Given the description of an element on the screen output the (x, y) to click on. 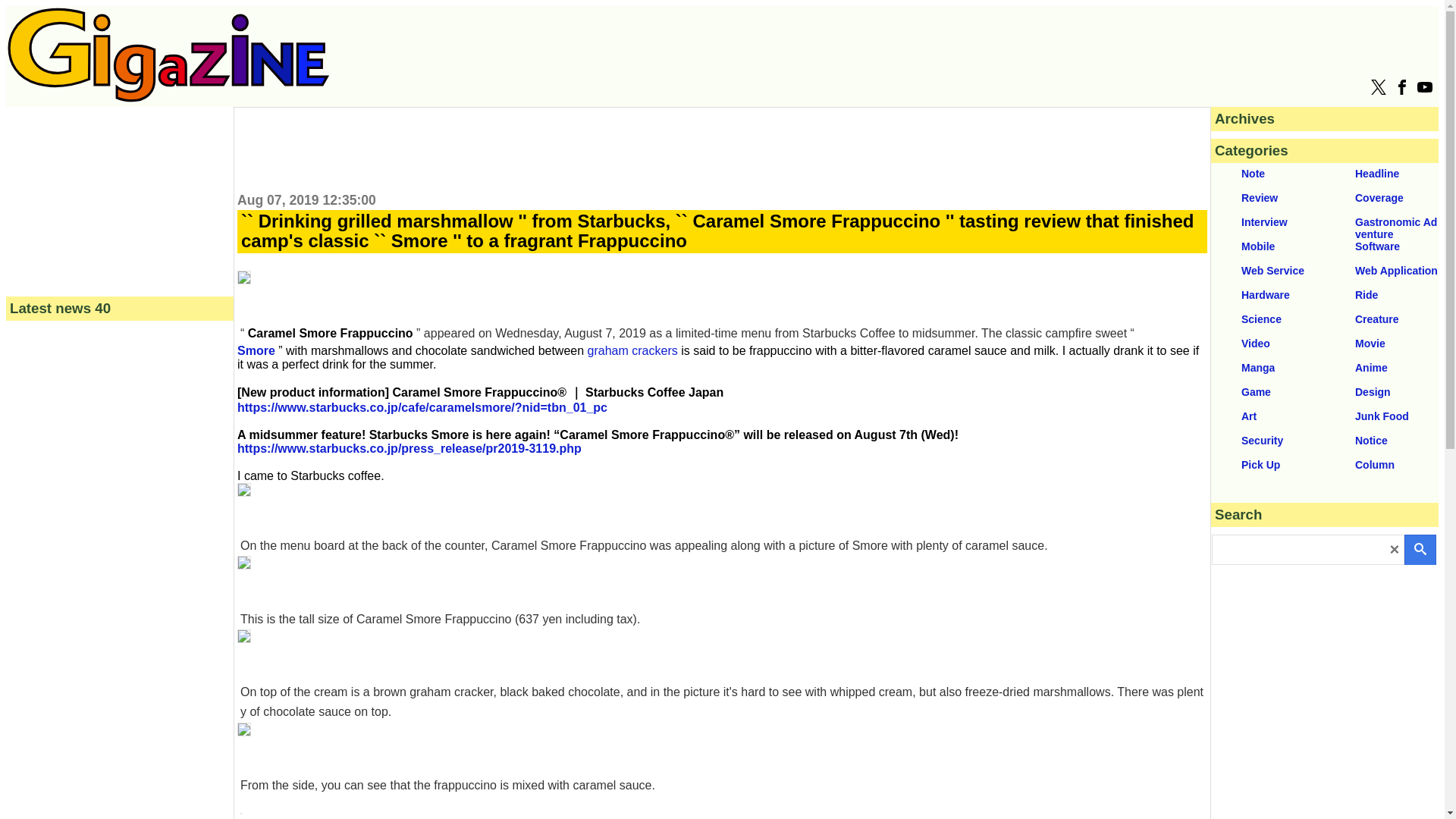
GIGAZINE (168, 54)
Smore (256, 350)
graham crackers (633, 350)
GIGAZINE (168, 97)
